Given the description of an element on the screen output the (x, y) to click on. 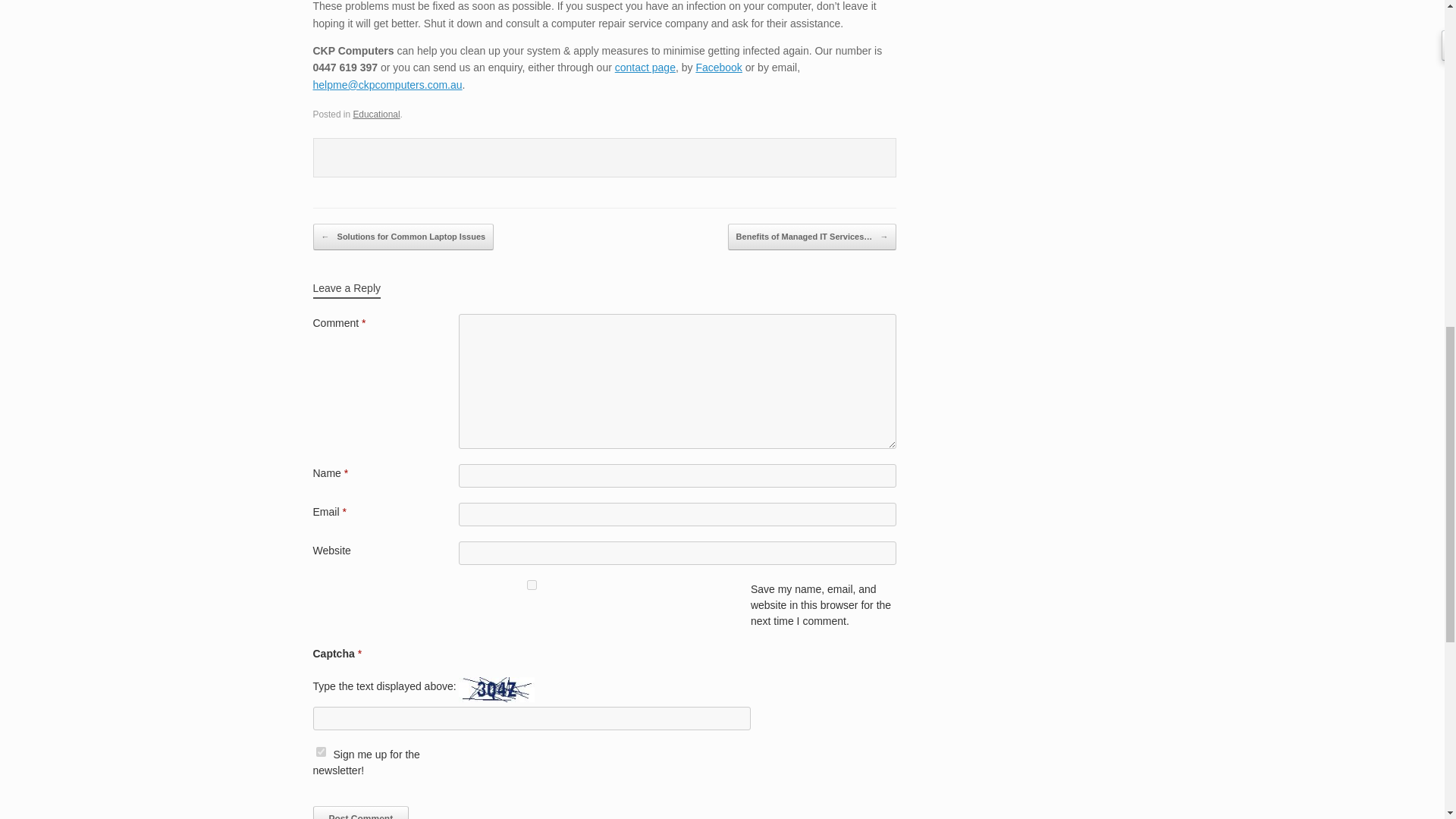
yes (531, 584)
Post Comment (361, 812)
Educational (375, 113)
1 (321, 751)
Post Comment (361, 812)
Facebook (718, 67)
contact page (644, 67)
